Given the description of an element on the screen output the (x, y) to click on. 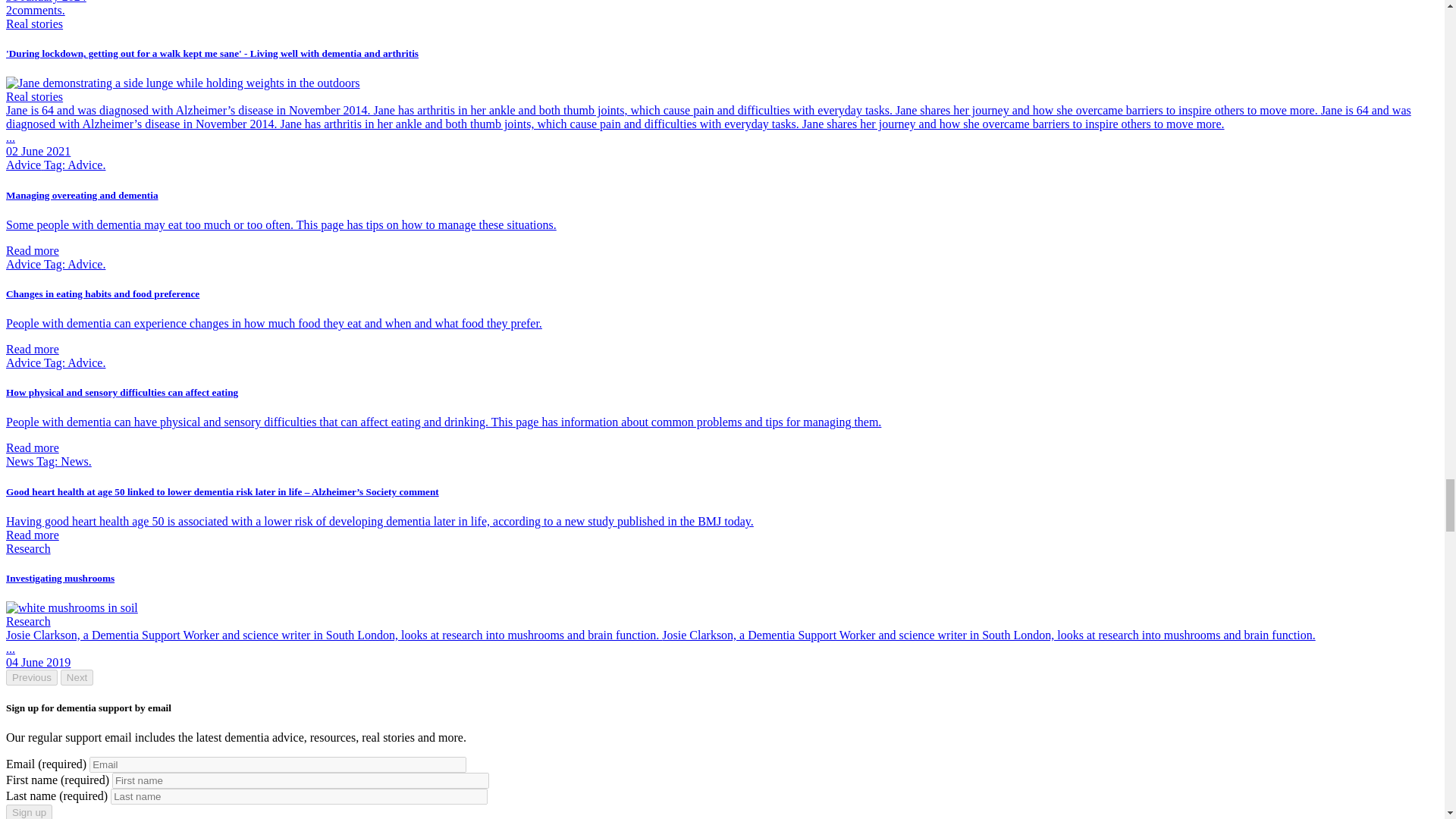
Sign up (28, 811)
